Given the description of an element on the screen output the (x, y) to click on. 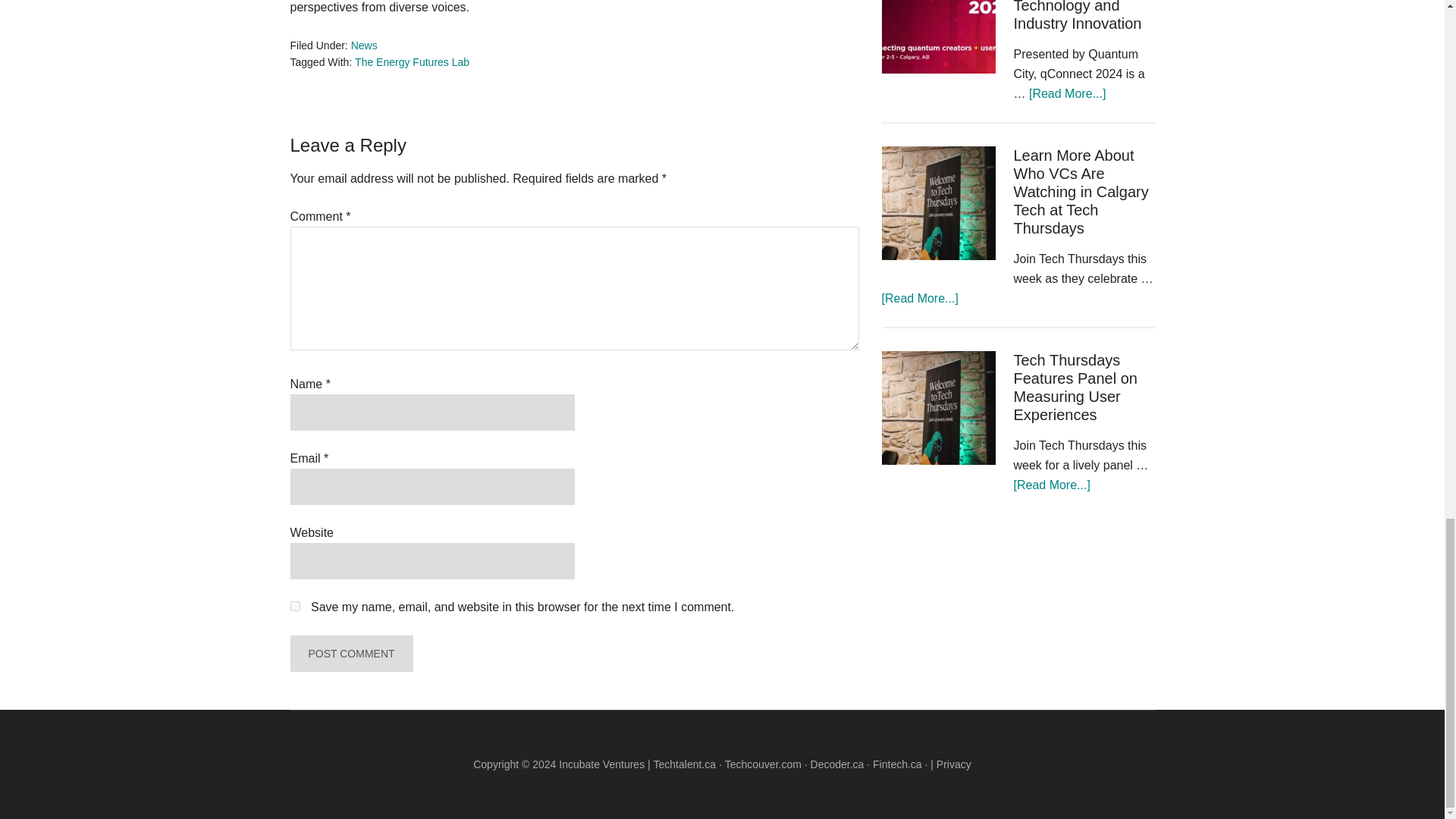
yes (294, 605)
The Energy Futures Lab (411, 61)
Post Comment (350, 653)
News (363, 45)
Post Comment (350, 653)
